Given the description of an element on the screen output the (x, y) to click on. 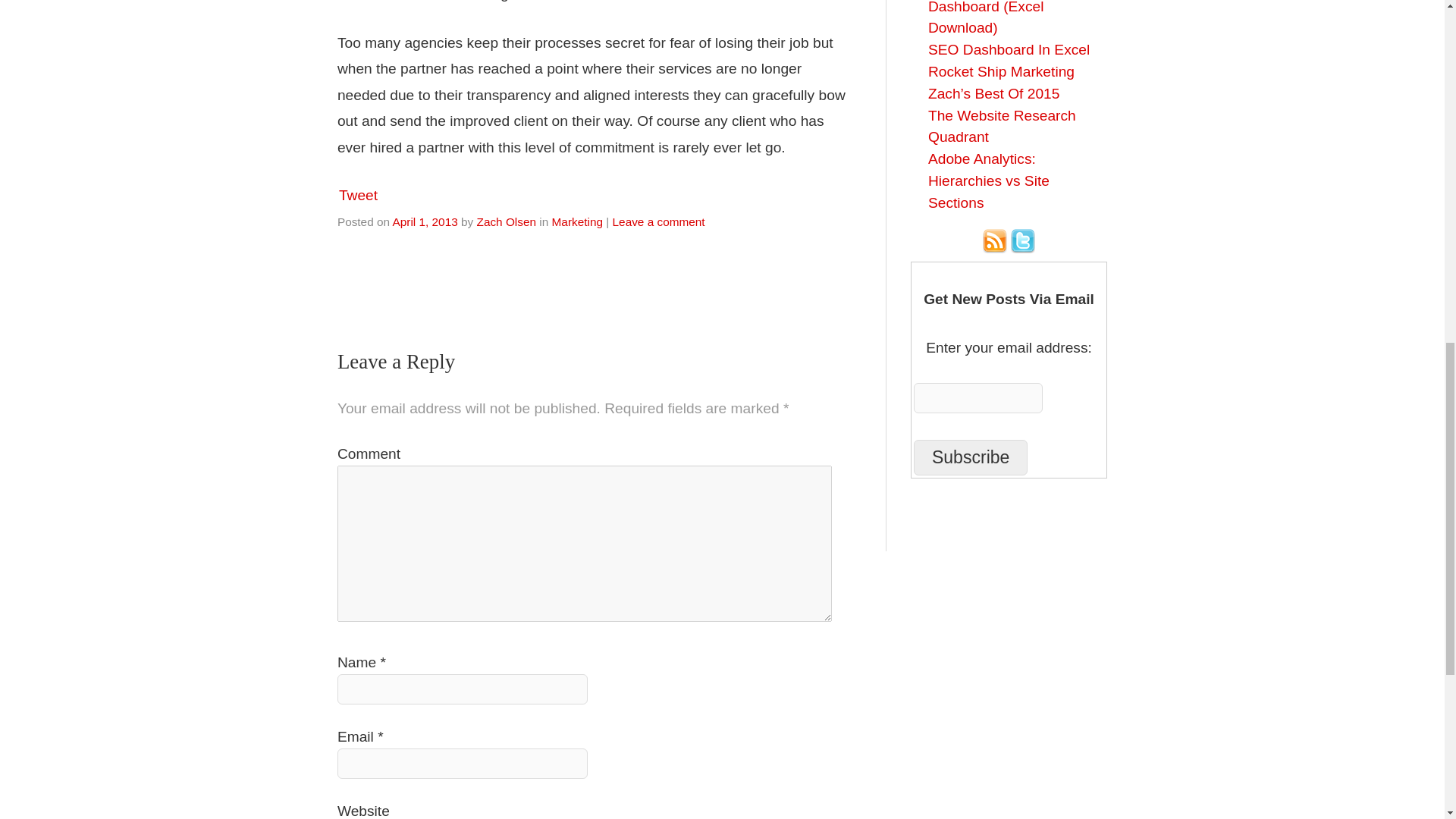
Subscribe (970, 457)
Adobe Analytics: Hierarchies vs Site Sections (988, 180)
Zach Olsen (505, 221)
The Website Research Quadrant (1001, 126)
12:14 pm (424, 221)
April 1, 2013 (424, 221)
SEO Dashboard In Excel (1008, 49)
Rocket Ship Marketing (1001, 71)
Tweet (358, 195)
The Website Research Quadrant (1001, 126)
Subscribe (970, 457)
Leave a comment (658, 221)
Rocket Ship Marketing (1001, 71)
Adobe Analytics: Hierarchies vs Site Sections (988, 180)
Marketing (576, 221)
